Given the description of an element on the screen output the (x, y) to click on. 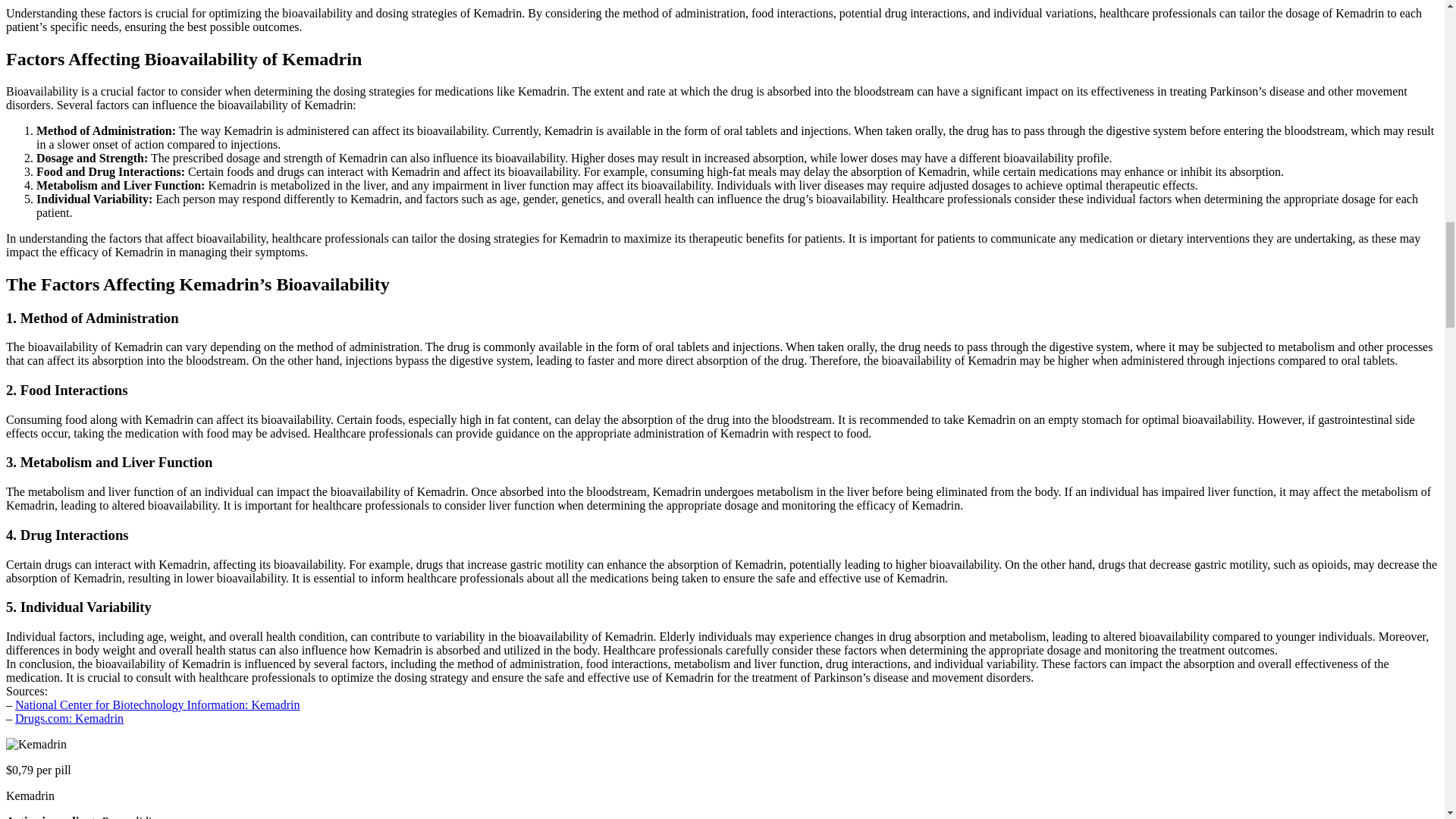
Drugs.com: Kemadrin (68, 717)
National Center for Biotechnology Information: Kemadrin (156, 704)
